Given the description of an element on the screen output the (x, y) to click on. 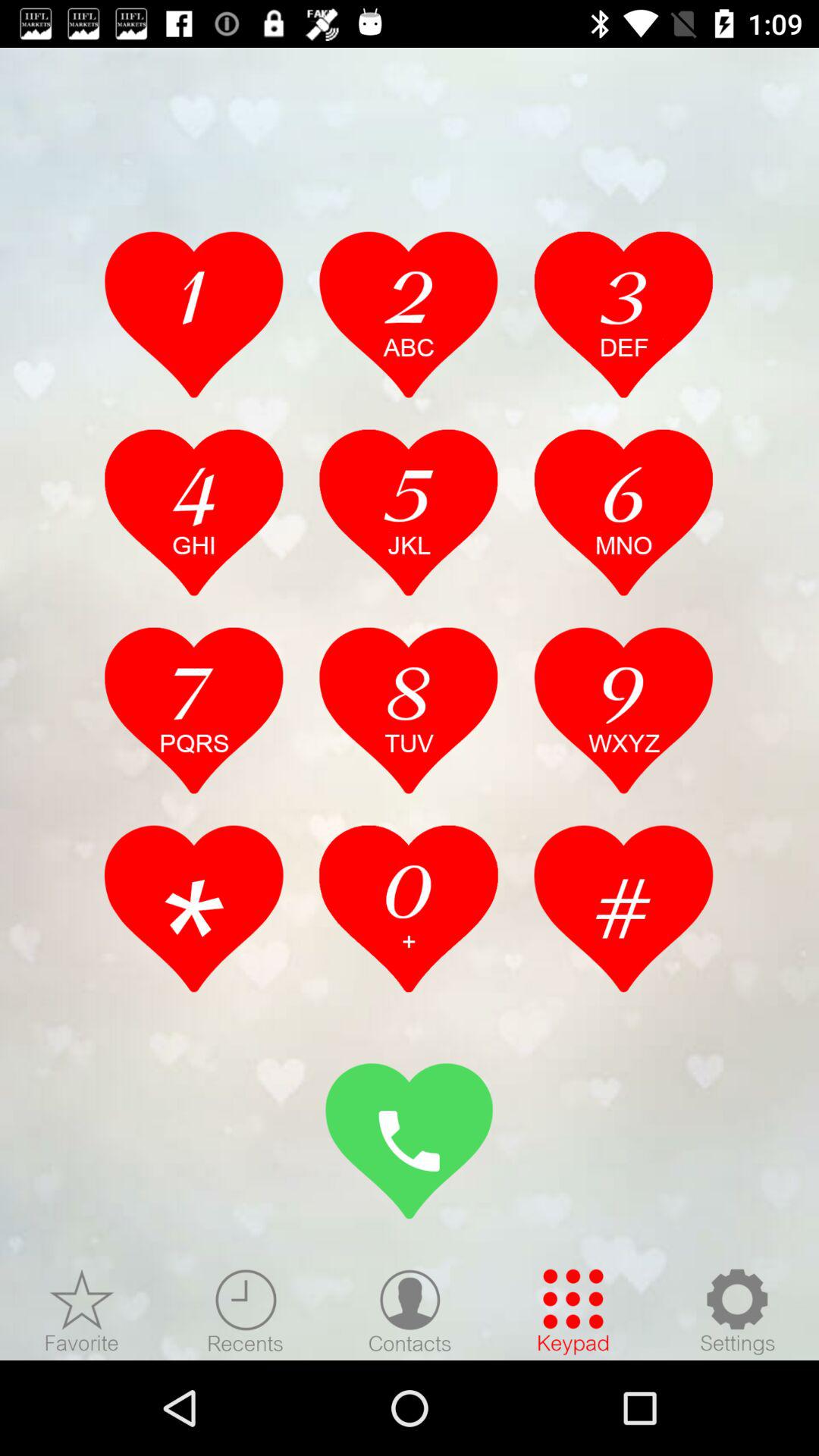
dial 7 (194, 710)
